Given the description of an element on the screen output the (x, y) to click on. 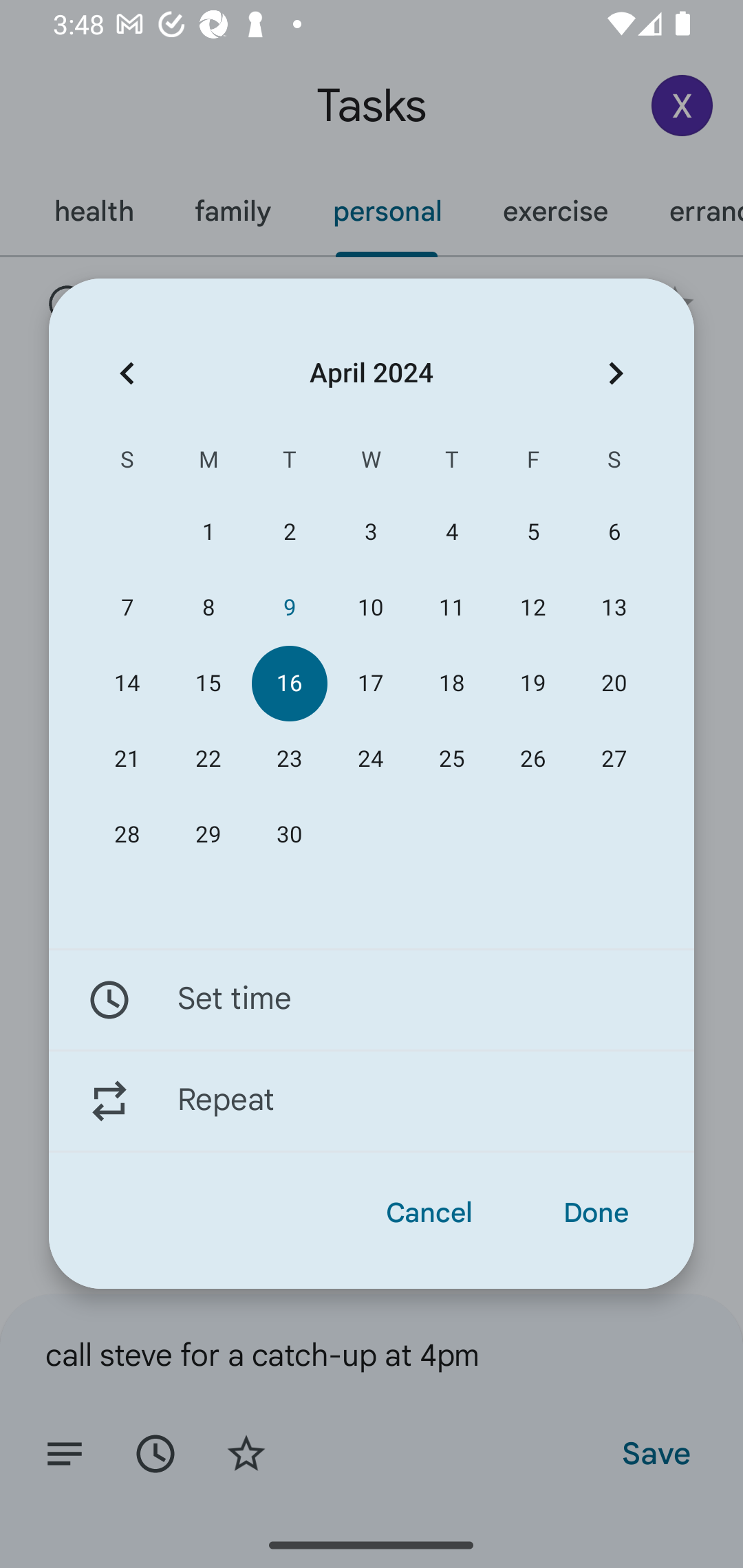
Previous month (126, 372)
Next month (615, 372)
1 01 April 2024 (207, 531)
2 02 April 2024 (288, 531)
3 03 April 2024 (370, 531)
4 04 April 2024 (451, 531)
5 05 April 2024 (532, 531)
6 06 April 2024 (613, 531)
7 07 April 2024 (126, 608)
8 08 April 2024 (207, 608)
9 09 April 2024 (288, 608)
10 10 April 2024 (370, 608)
11 11 April 2024 (451, 608)
12 12 April 2024 (532, 608)
13 13 April 2024 (613, 608)
14 14 April 2024 (126, 683)
15 15 April 2024 (207, 683)
16 16 April 2024 (288, 683)
17 17 April 2024 (370, 683)
18 18 April 2024 (451, 683)
19 19 April 2024 (532, 683)
20 20 April 2024 (613, 683)
21 21 April 2024 (126, 758)
22 22 April 2024 (207, 758)
23 23 April 2024 (288, 758)
24 24 April 2024 (370, 758)
25 25 April 2024 (451, 758)
26 26 April 2024 (532, 758)
27 27 April 2024 (613, 758)
28 28 April 2024 (126, 834)
29 29 April 2024 (207, 834)
30 30 April 2024 (288, 834)
Set time (371, 999)
Repeat (371, 1101)
Cancel (429, 1213)
Done (595, 1213)
